Given the description of an element on the screen output the (x, y) to click on. 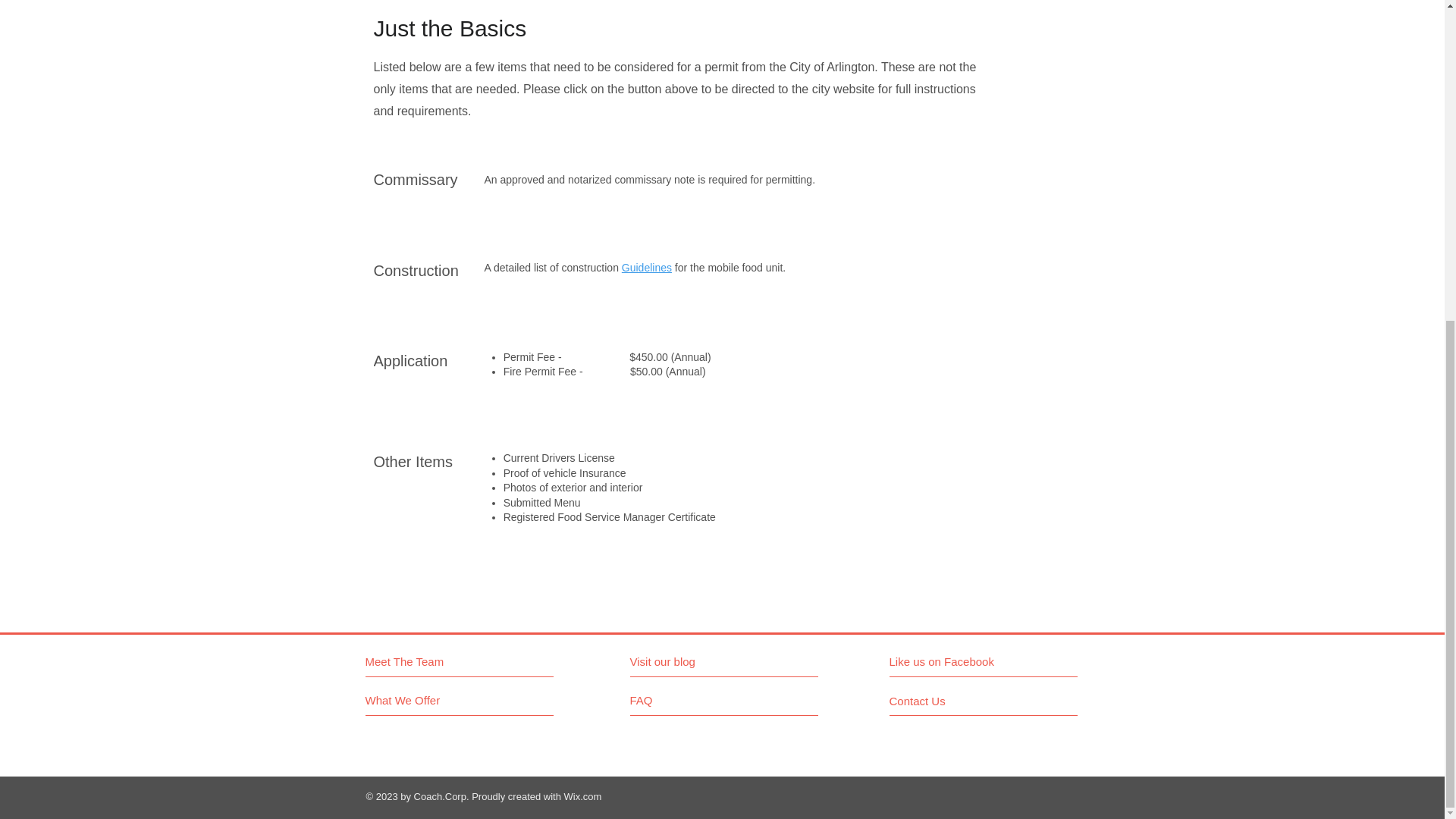
Wix.com (583, 796)
Meet The Team (430, 661)
Contact Us (951, 700)
Visit our blog (694, 661)
Like us on Facebook (956, 661)
What We Offer (422, 700)
FAQ (672, 700)
Guidelines (646, 267)
